Given the description of an element on the screen output the (x, y) to click on. 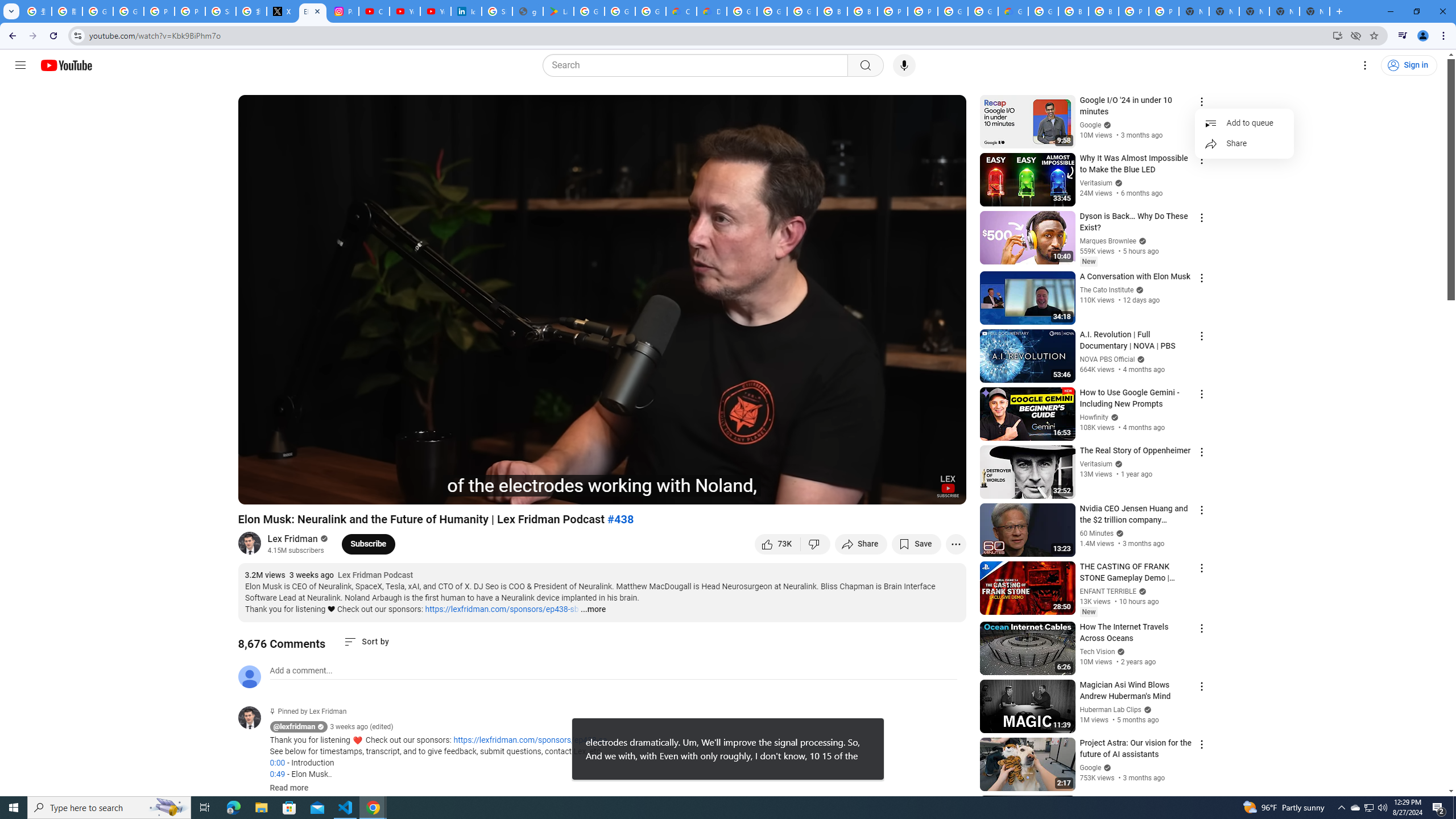
Google Cloud Platform (1042, 11)
Save to playlist (915, 543)
Share (861, 543)
Lex Fridman (292, 538)
Browse Chrome as a guest - Computer - Google Chrome Help (832, 11)
Autoplay is on (808, 490)
#438 (620, 519)
